Given the description of an element on the screen output the (x, y) to click on. 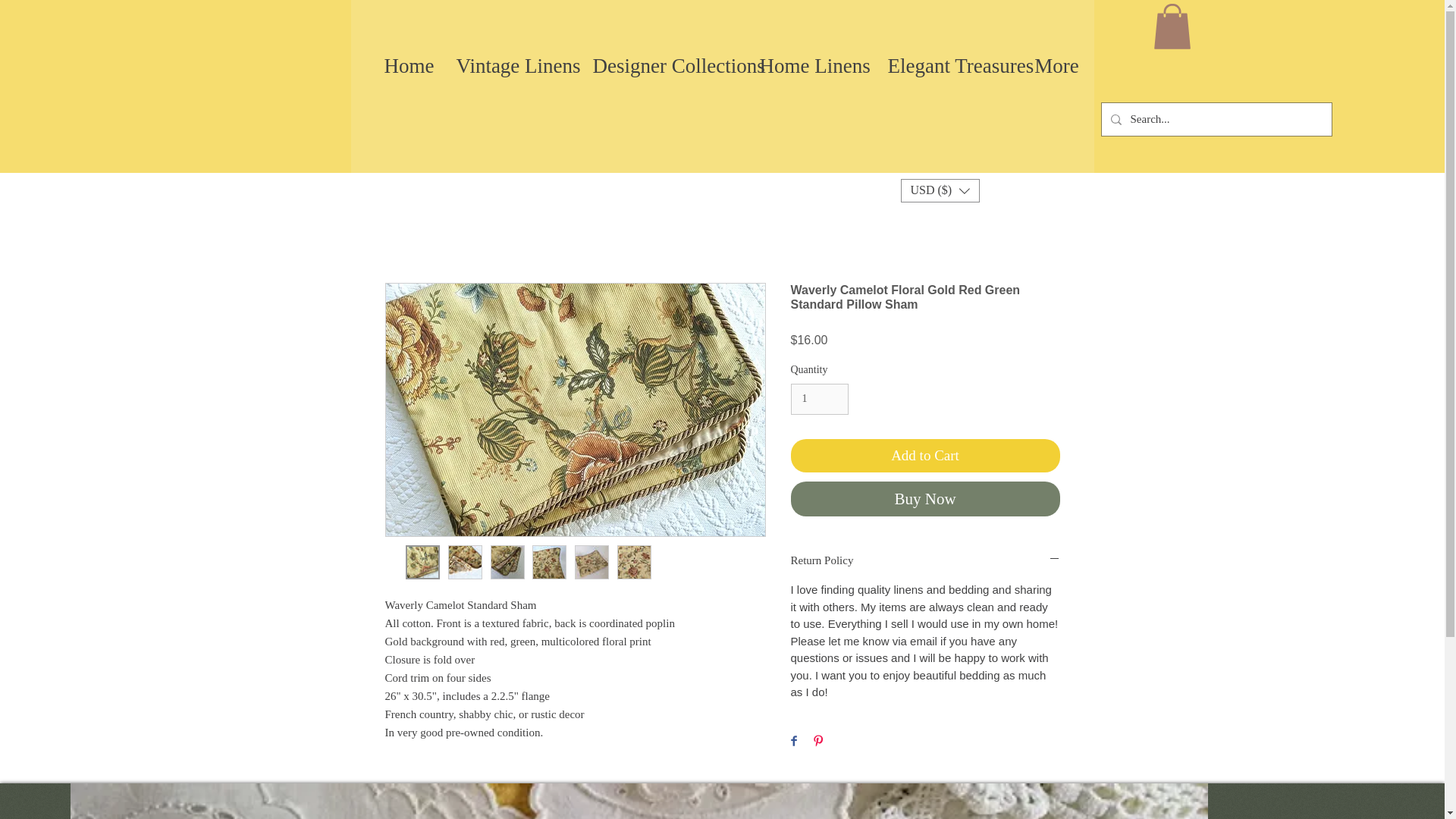
1 (818, 399)
vintage linens.jpg (638, 800)
Home Linens (812, 66)
Home (408, 66)
Designer Collections (664, 66)
Vintage Linens (512, 66)
